Given the description of an element on the screen output the (x, y) to click on. 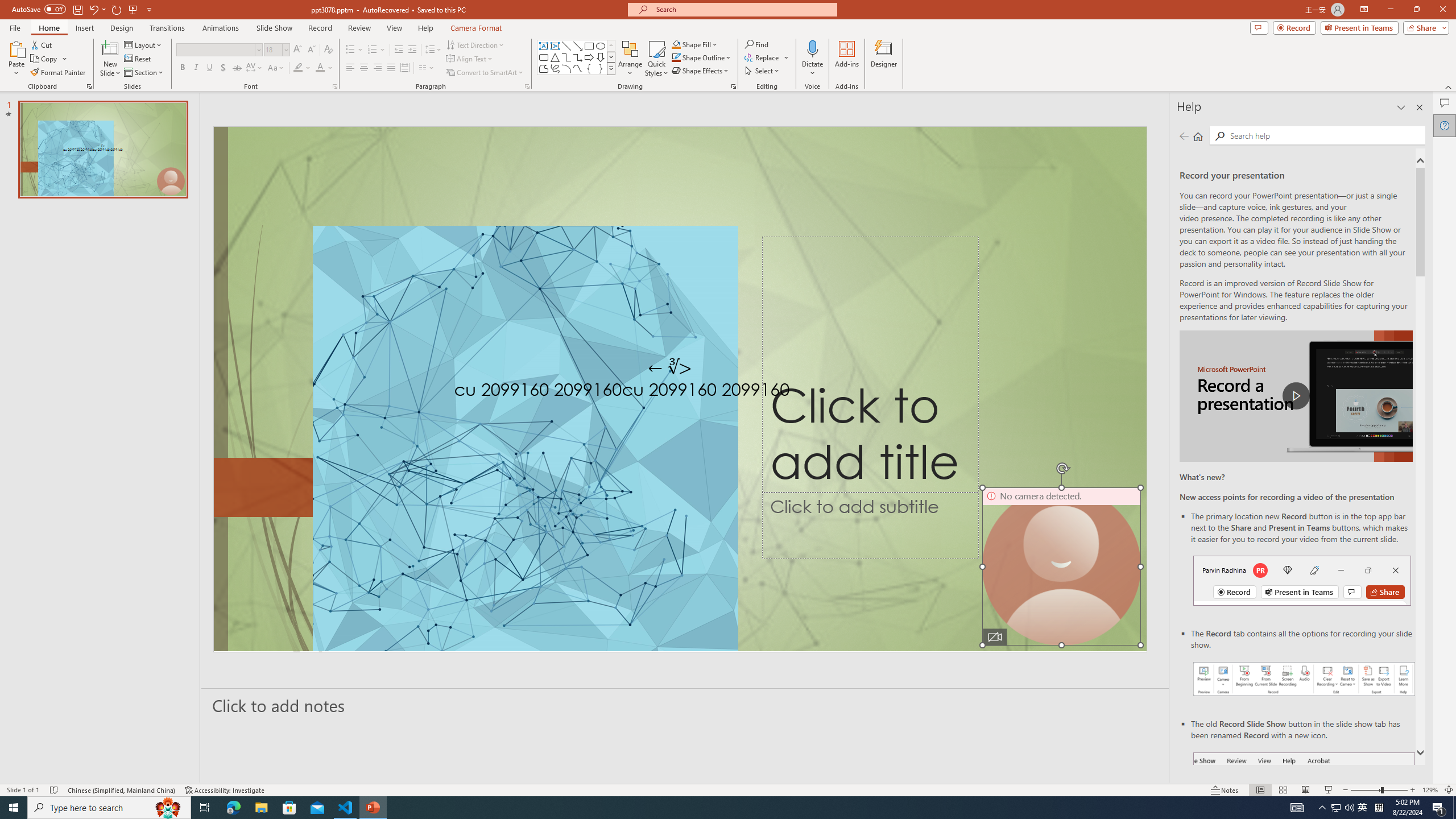
Spell Check No Errors (54, 790)
Right Brace (600, 68)
Connector: Elbow Arrow (577, 57)
Convert to SmartArt (485, 72)
Paste (16, 58)
From Beginning (133, 9)
Shape Fill Dark Green, Accent 2 (675, 44)
Text Highlight Color (302, 67)
Ribbon Display Options (1364, 9)
Transitions (167, 28)
Bullets (349, 49)
Share (1423, 27)
New Slide (110, 58)
